Given the description of an element on the screen output the (x, y) to click on. 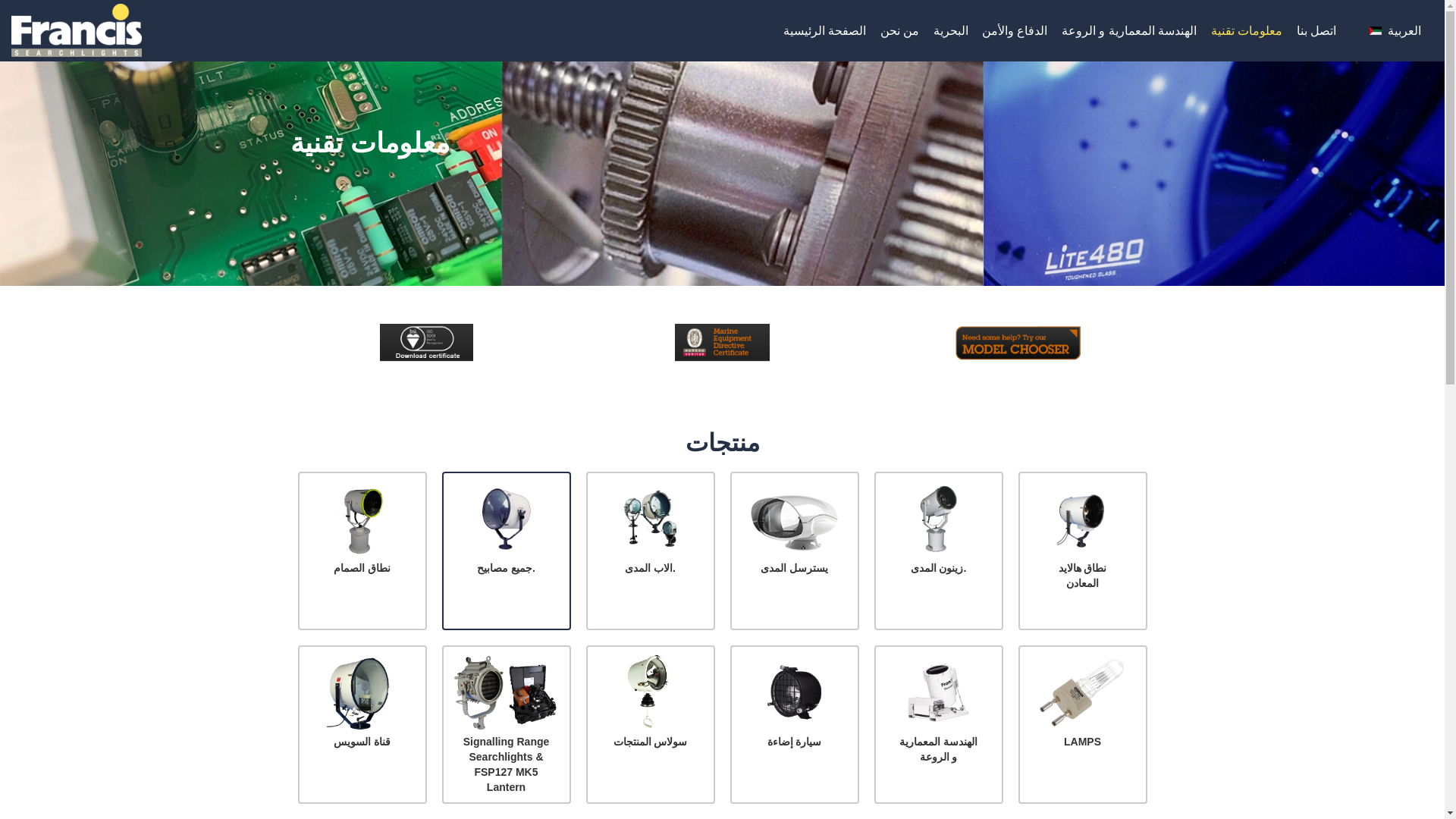
a2 (722, 342)
a1 (426, 342)
Capture (1018, 342)
